Given the description of an element on the screen output the (x, y) to click on. 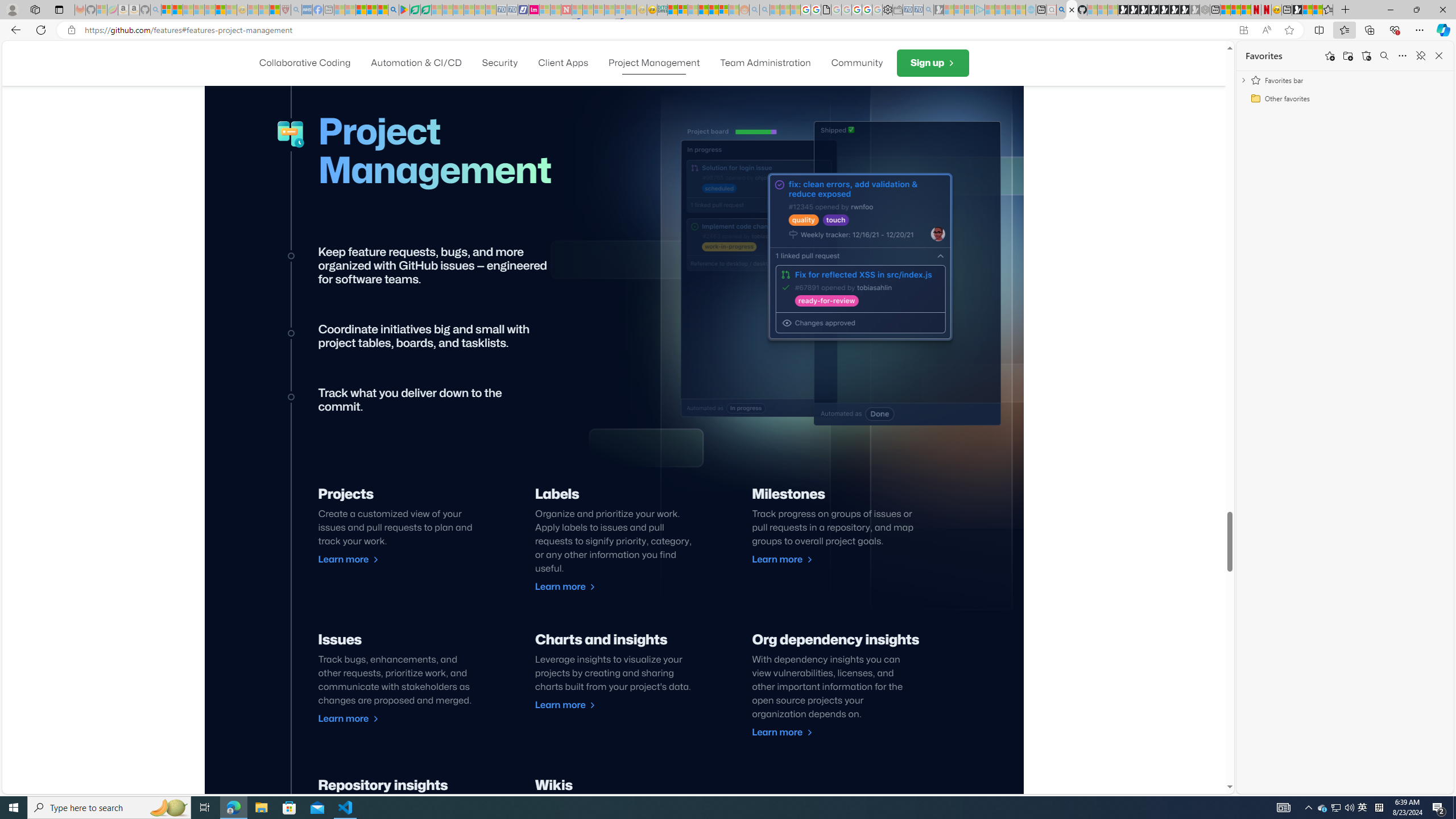
Microsoft-Report a Concern to Bing - Sleeping (101, 9)
Sign up  (932, 62)
View site information (70, 29)
Close (1442, 9)
Microsoft Start - Sleeping (1010, 9)
Microsoft account | Privacy - Sleeping (969, 9)
Close tab (1071, 9)
Team Administration (764, 62)
GitHub Project Shipped (907, 272)
Jobs - lastminute.com Investor Portal (534, 9)
Pets - MSN (371, 9)
Terms of Use Agreement (414, 9)
